Given the description of an element on the screen output the (x, y) to click on. 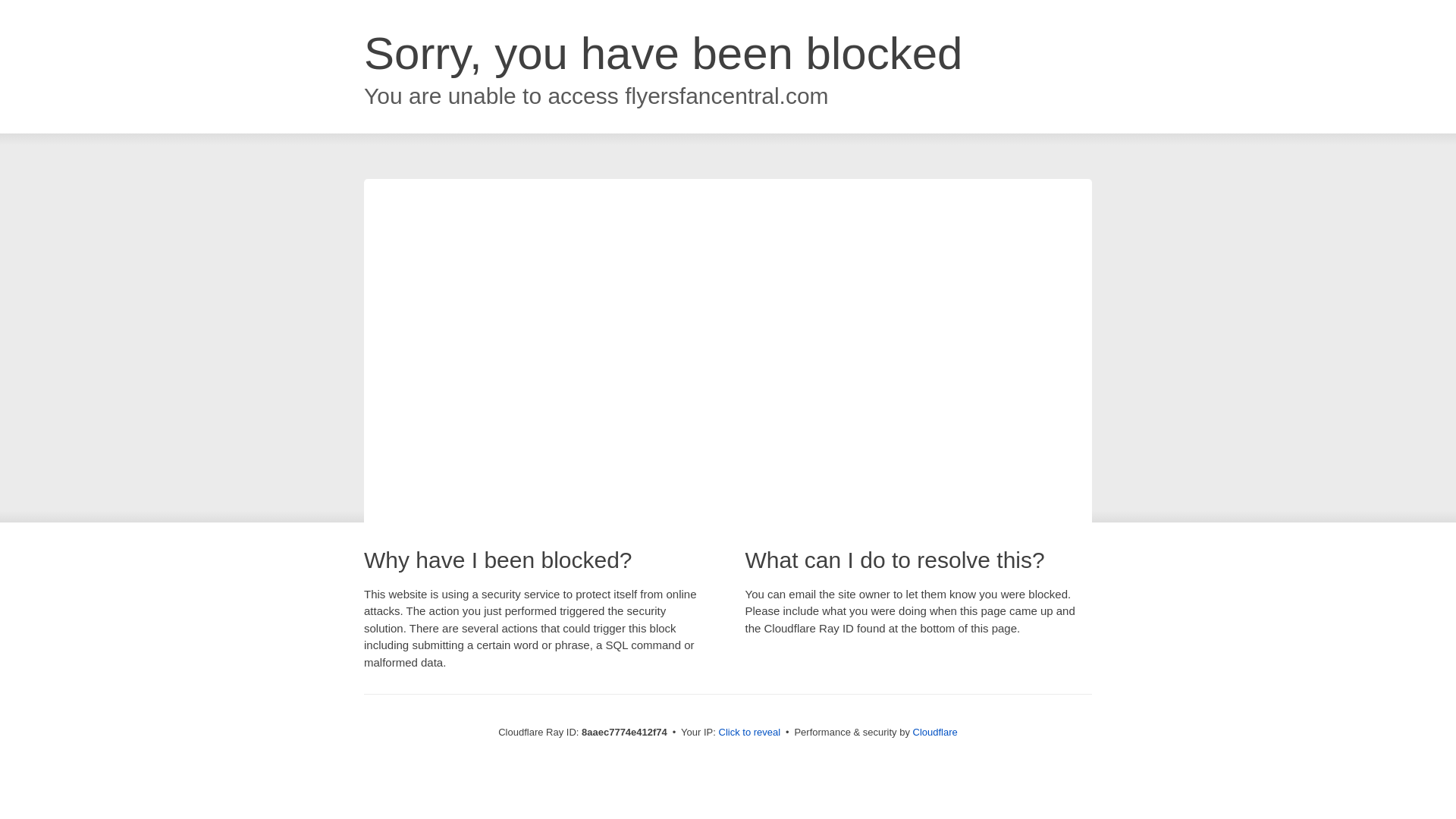
Click to reveal (749, 732)
Cloudflare (935, 731)
